Given the description of an element on the screen output the (x, y) to click on. 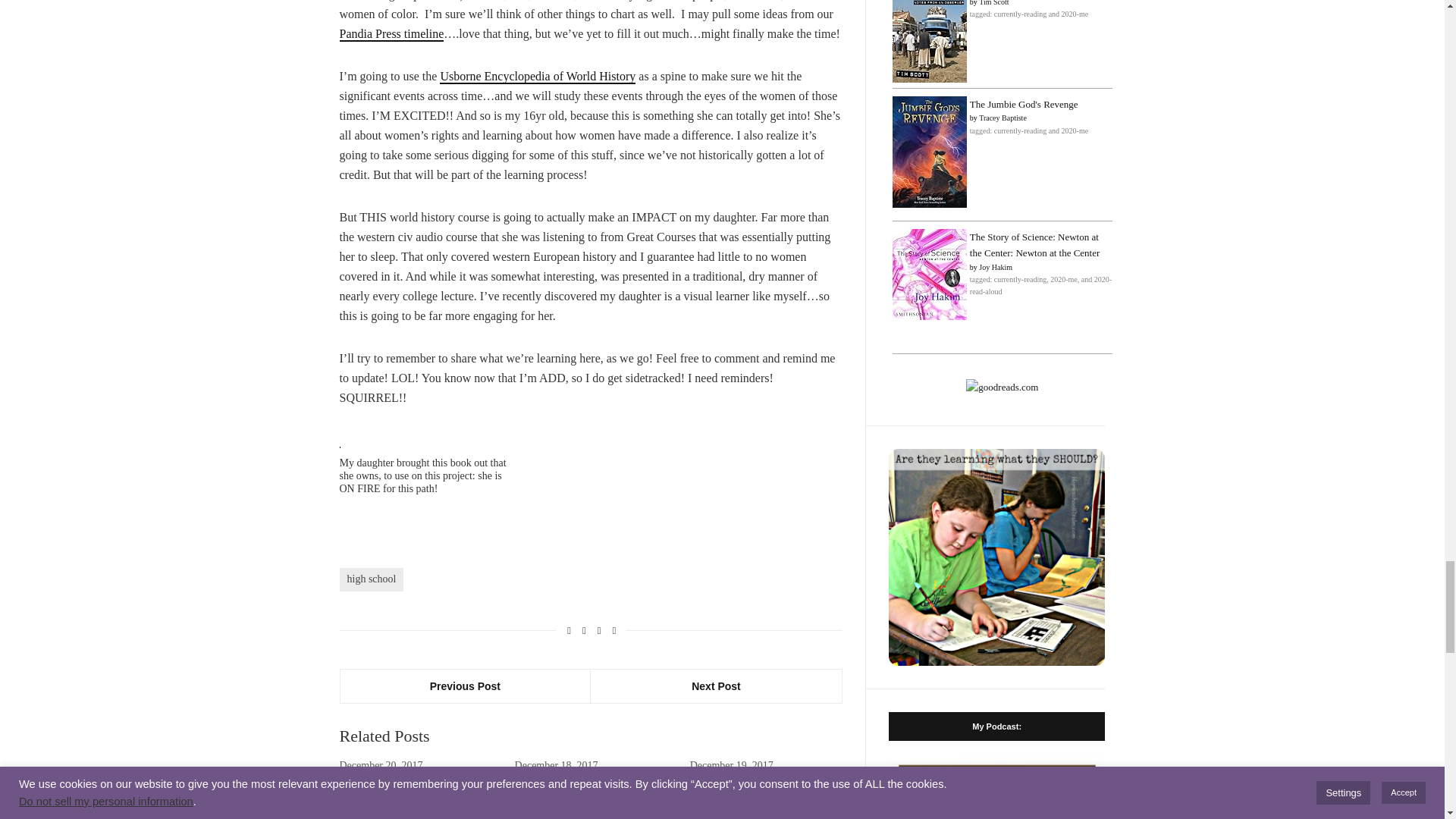
Homeschooling the early years, part 3, books 9 (590, 800)
Homeschooling the early years, part 5, Friends 8 (415, 800)
